Given the description of an element on the screen output the (x, y) to click on. 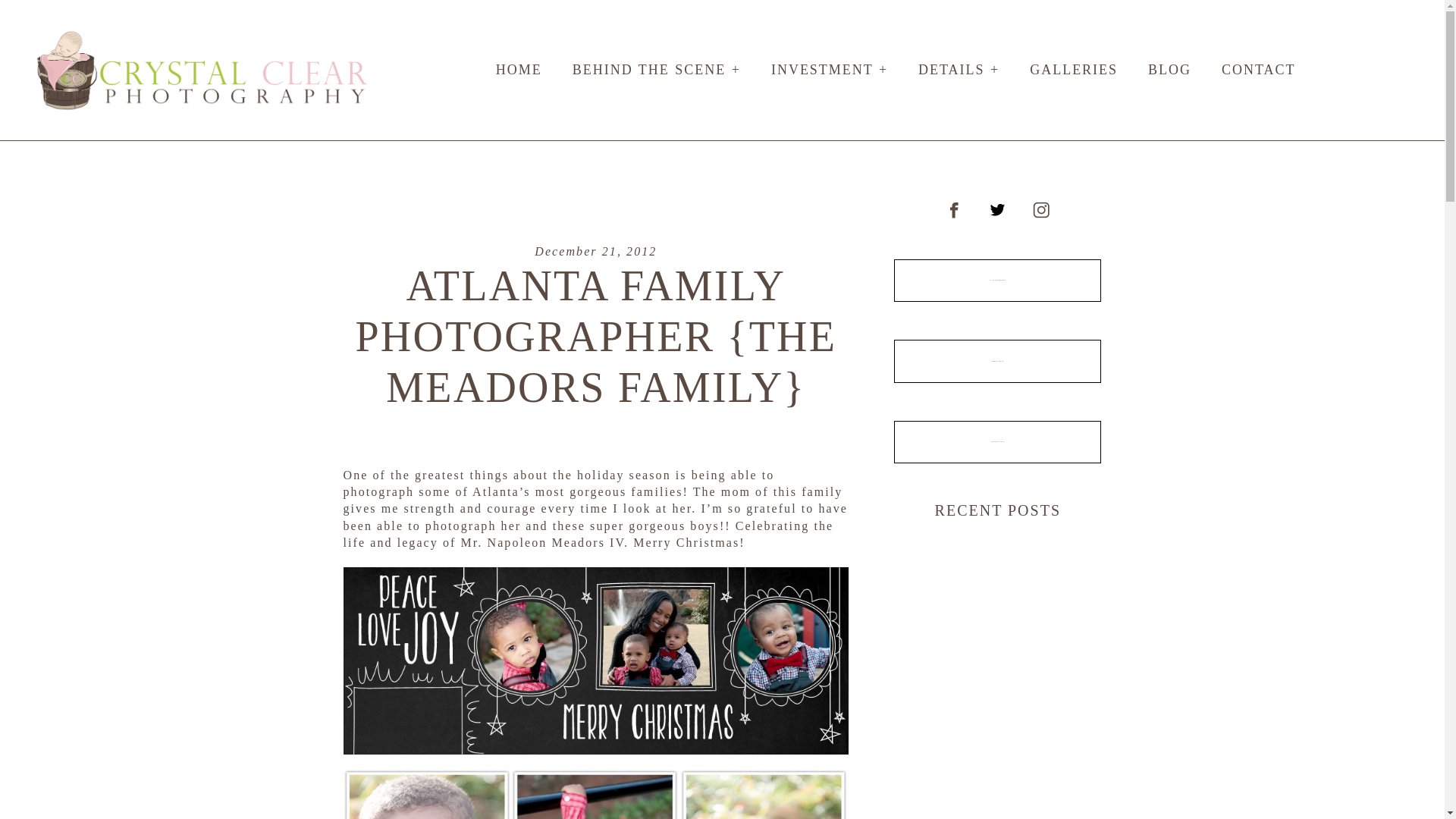
CONTACT (996, 441)
GALLERIES (996, 280)
BLOG (1169, 69)
HOME (518, 69)
CONTACT (1258, 69)
DETAILS (996, 360)
GALLERIES (1073, 69)
